Given the description of an element on the screen output the (x, y) to click on. 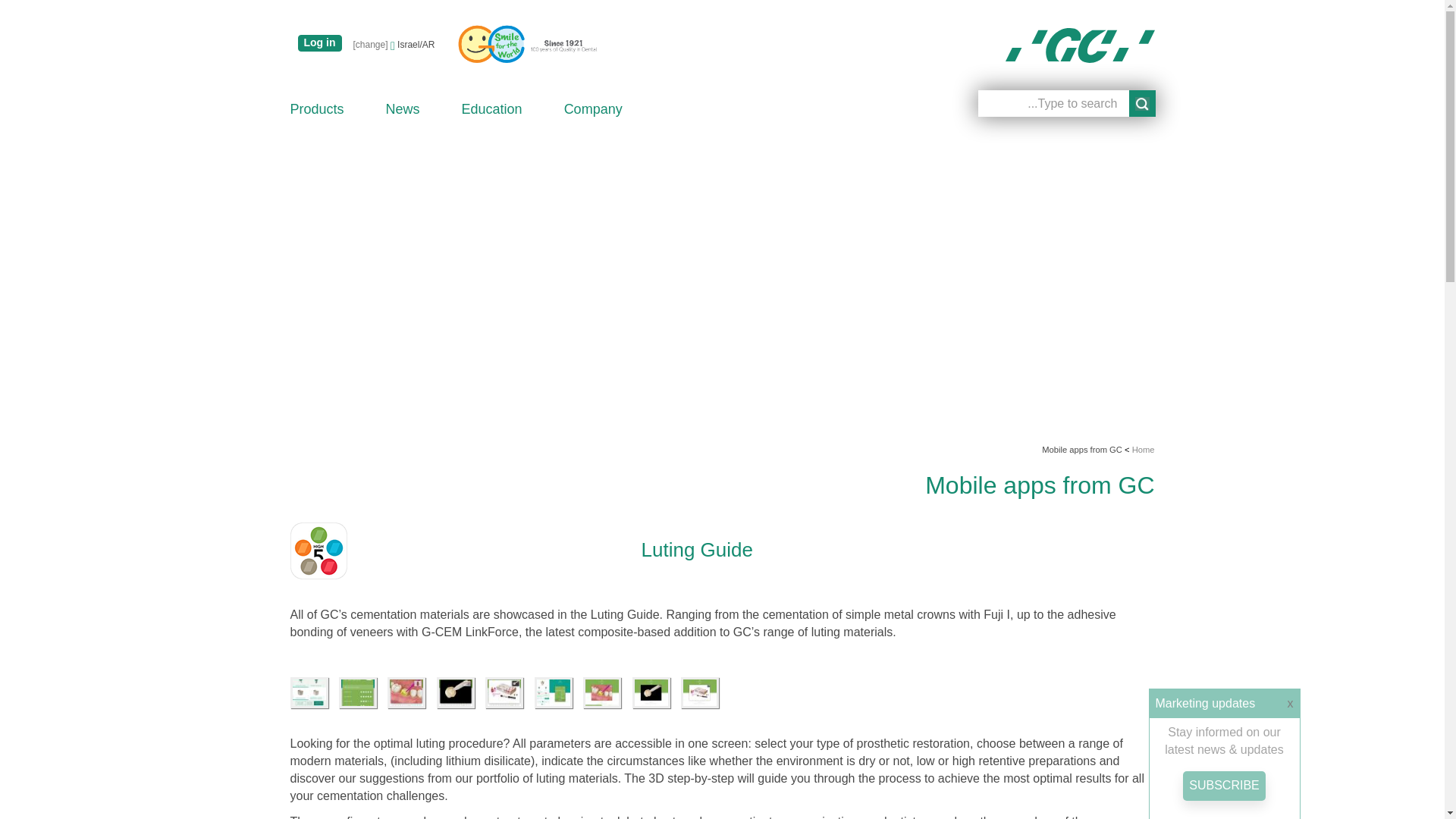
Luting Guide (460, 691)
Luting Guide (509, 691)
Luting Guide (558, 691)
Home (1080, 45)
Products (317, 108)
Luting Guide (703, 691)
Luting Guide (607, 691)
Luting Guide (313, 691)
